Given the description of an element on the screen output the (x, y) to click on. 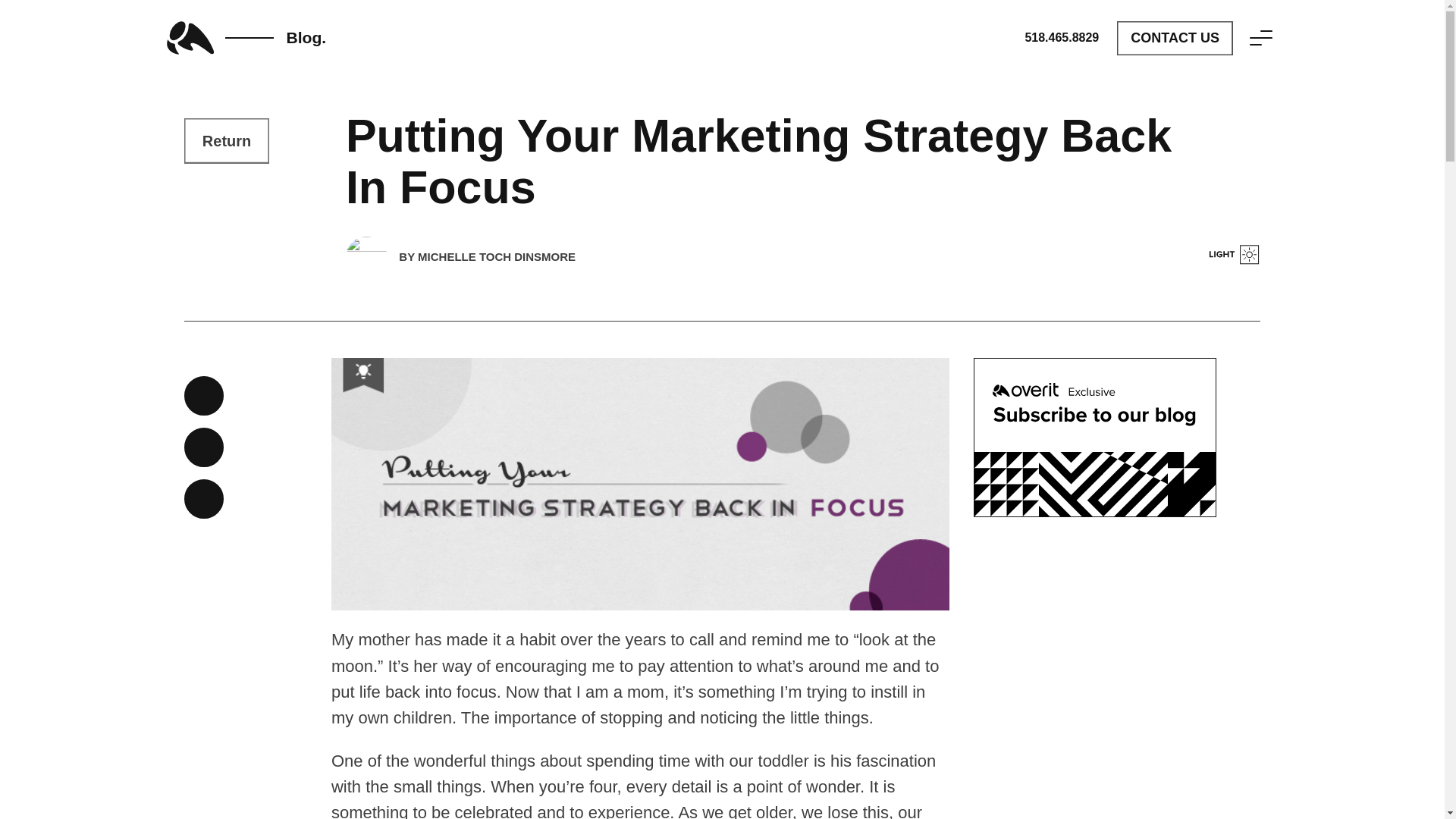
Blog. (252, 37)
518.465.8829 (1062, 37)
CONTACT US (1174, 38)
Return (226, 139)
Overit (252, 37)
Blog home (226, 139)
